Given the description of an element on the screen output the (x, y) to click on. 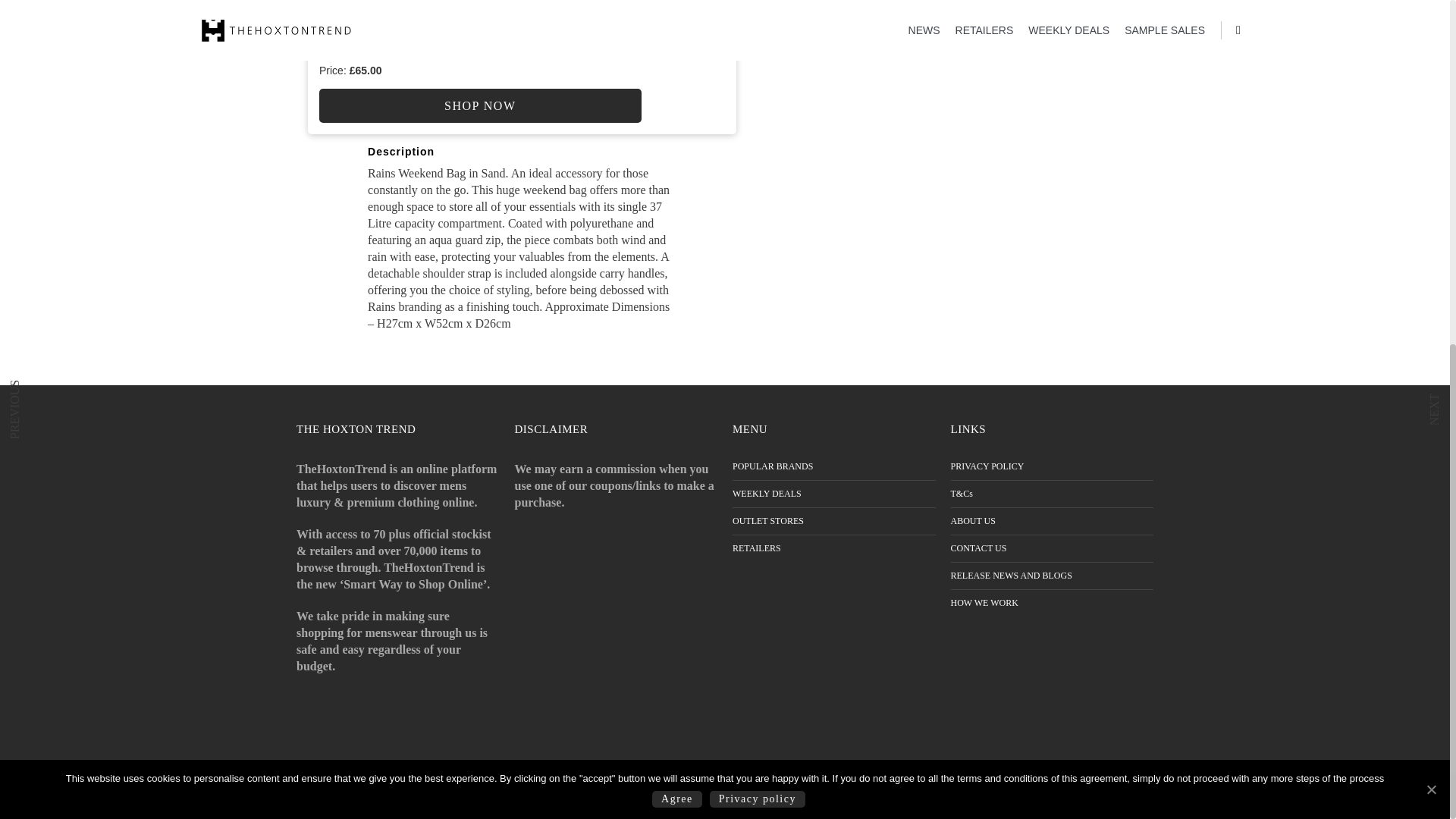
HOW WE WORK (1052, 603)
CONTACT US (1052, 548)
OUTLET STORES (834, 521)
PRIVACY POLICY (1052, 466)
WEEKLY DEALS (834, 493)
POPULAR BRANDS (834, 466)
RELEASE NEWS AND BLOGS (1052, 575)
RETAILERS (834, 548)
SHOP NOW (480, 105)
ABOUT US (1052, 521)
